Given the description of an element on the screen output the (x, y) to click on. 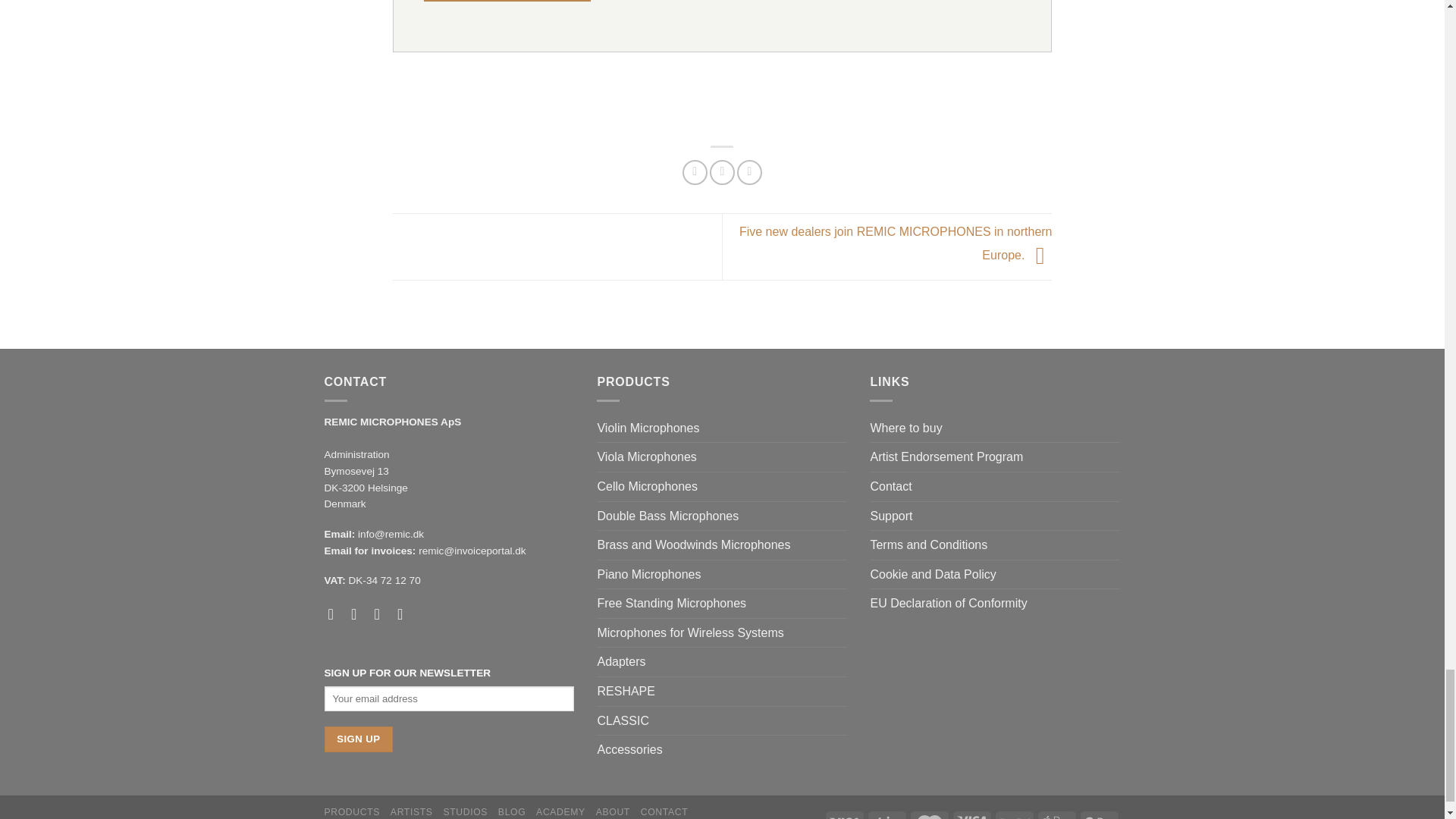
Email to a Friend (748, 172)
Share on Twitter (722, 172)
Sign up (358, 739)
Share on Facebook (694, 172)
